Given the description of an element on the screen output the (x, y) to click on. 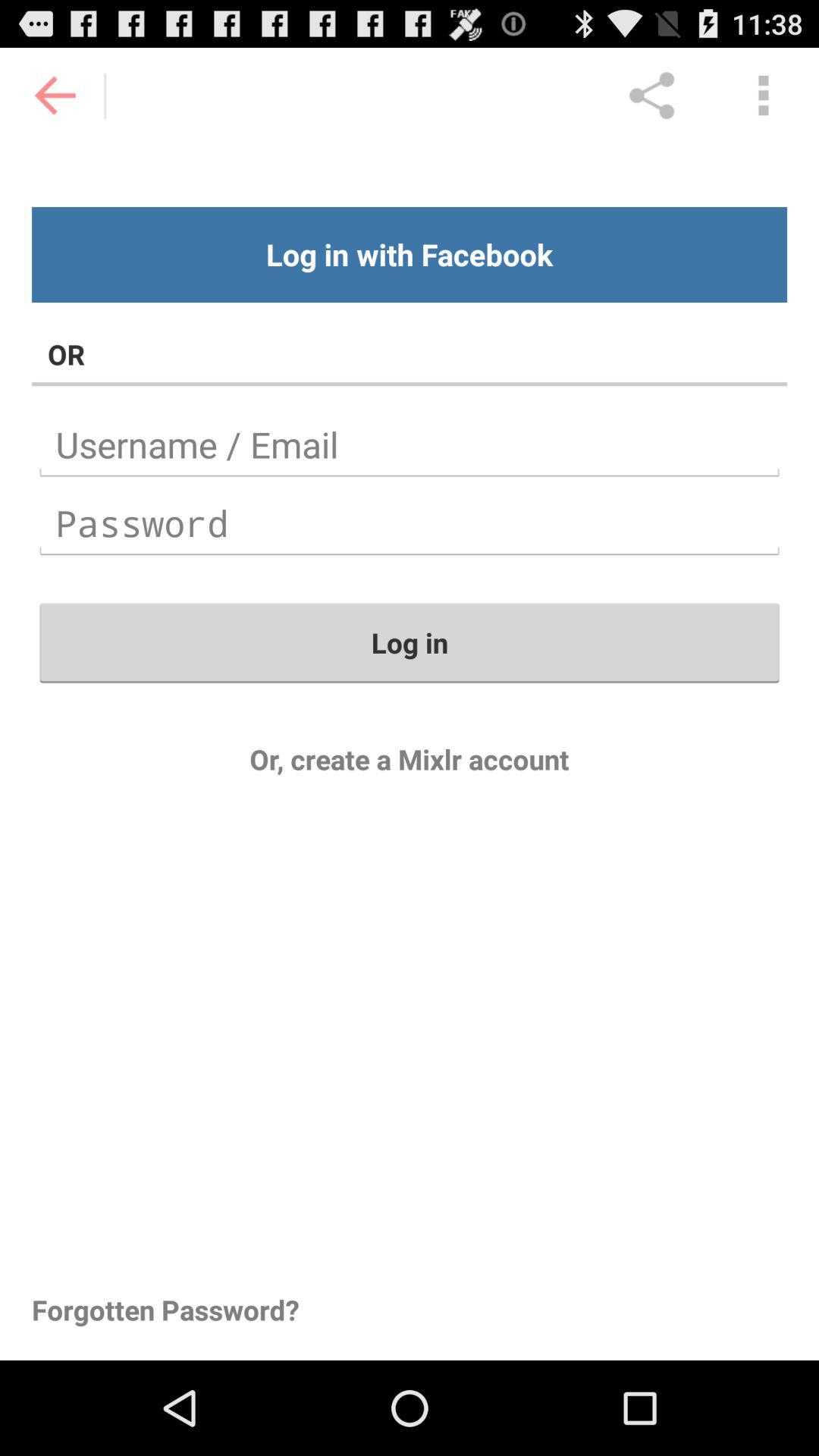
click on the text below or (409, 445)
